Given the description of an element on the screen output the (x, y) to click on. 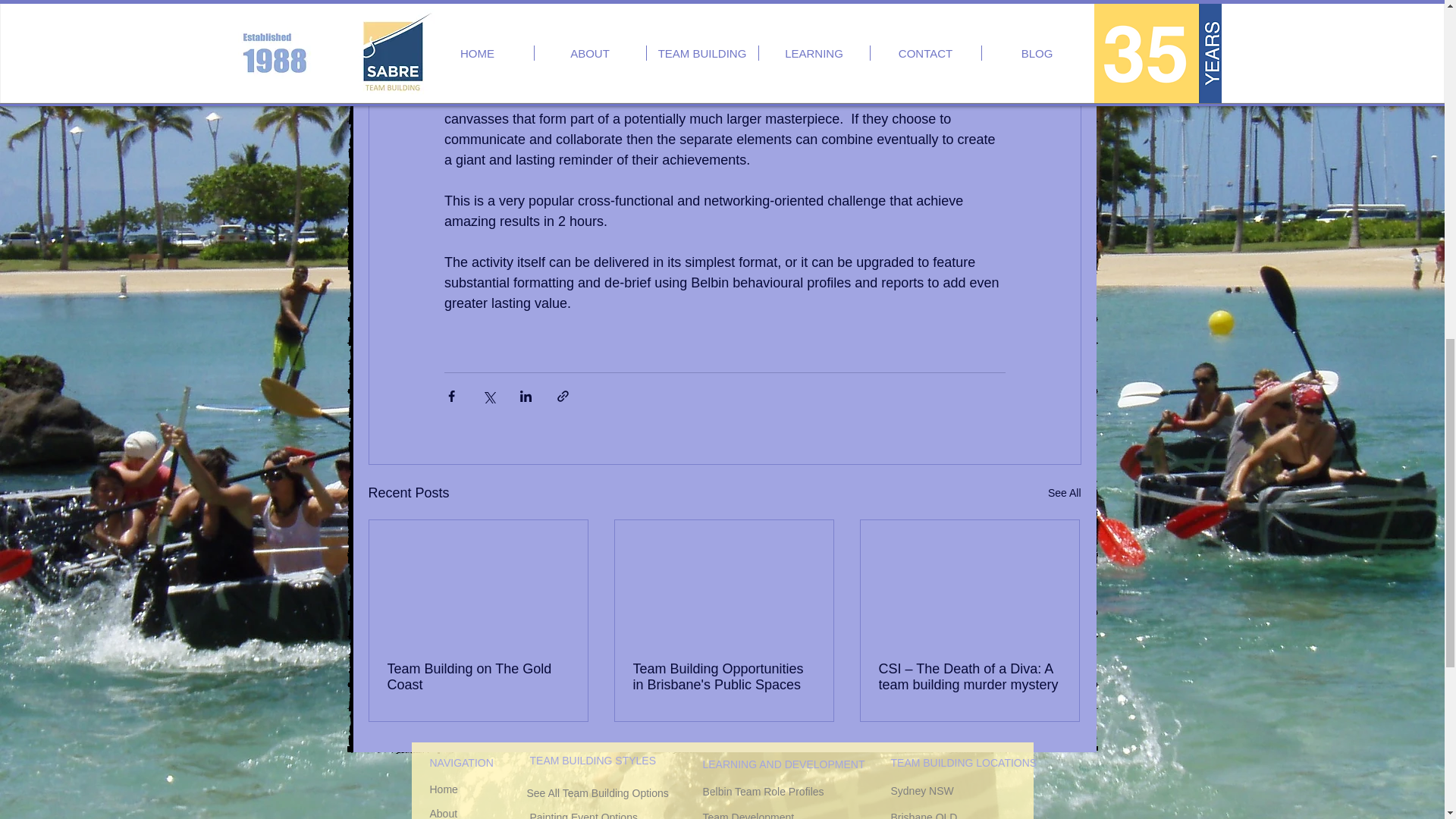
See All (1064, 493)
Team Building on The Gold Coast (478, 676)
